Given the description of an element on the screen output the (x, y) to click on. 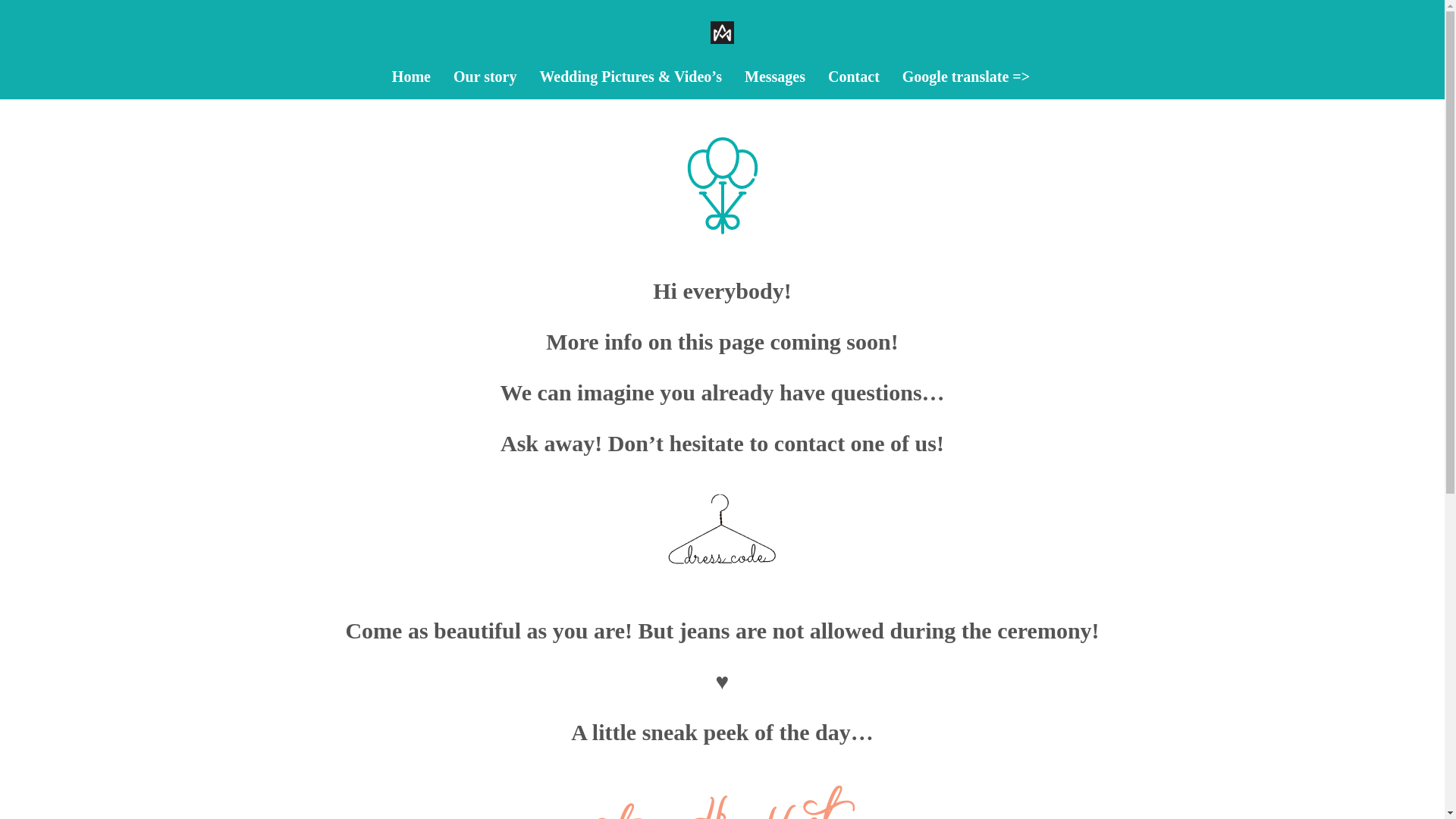
Messages (774, 76)
Our story (484, 76)
CHECK IT OUT! (871, 657)
Contact (853, 76)
Home (410, 76)
